Given the description of an element on the screen output the (x, y) to click on. 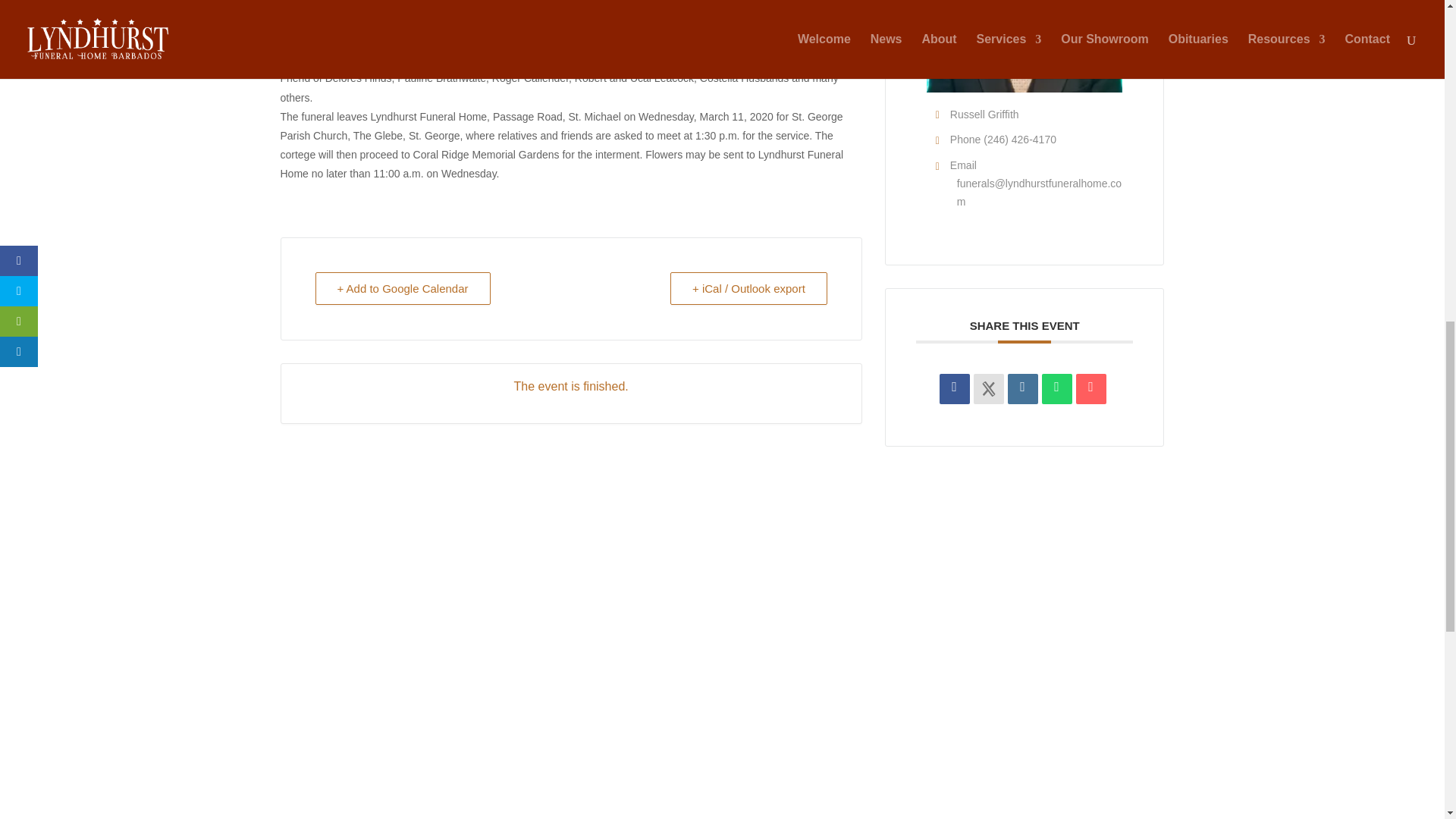
Share on Facebook (954, 388)
Linkedin (1022, 388)
X Social Network (989, 388)
Share on WhatsApp (1056, 388)
Email (1090, 388)
